Given the description of an element on the screen output the (x, y) to click on. 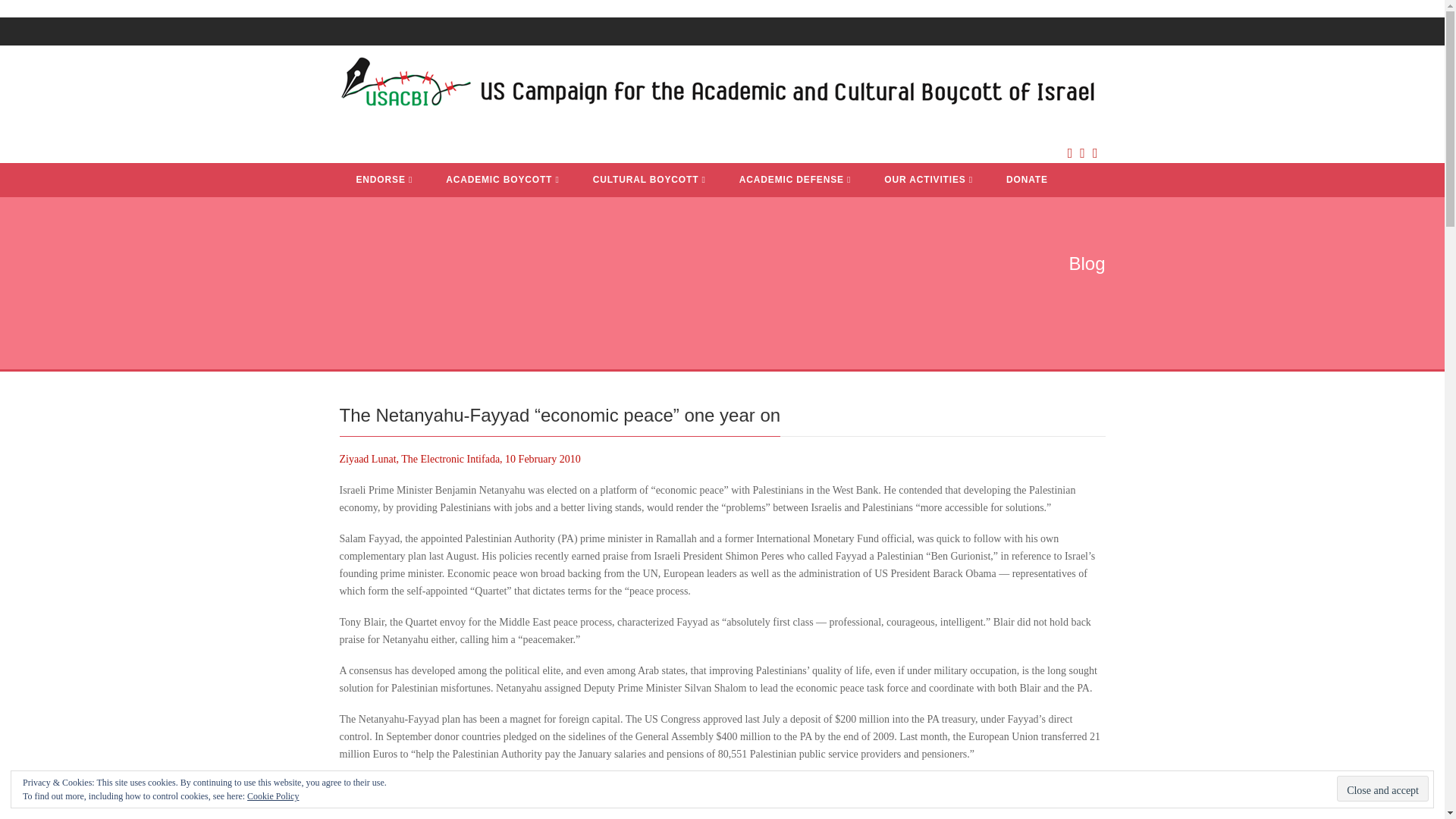
CULTURAL BOYCOTT (648, 179)
ENDORSE (384, 179)
US Campaign for the Academic and Cultural Boycott of Israel (718, 85)
ACADEMIC DEFENSE (795, 179)
ACADEMIC BOYCOTT (502, 179)
Close and accept (1382, 788)
OUR ACTIVITIES (928, 179)
